Given the description of an element on the screen output the (x, y) to click on. 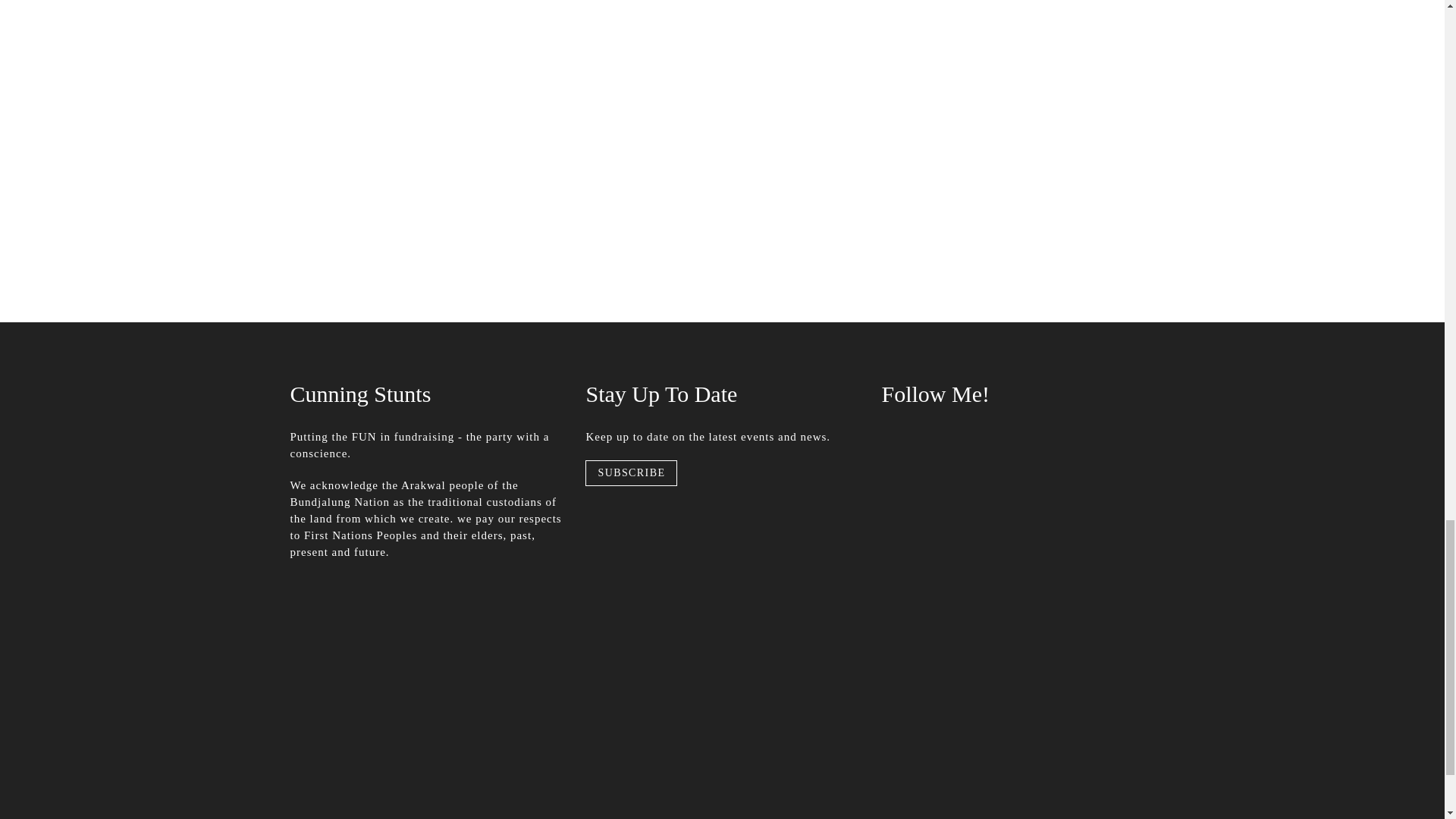
SUBSCRIBE (631, 473)
Likebox Iframe (1017, 504)
